Given the description of an element on the screen output the (x, y) to click on. 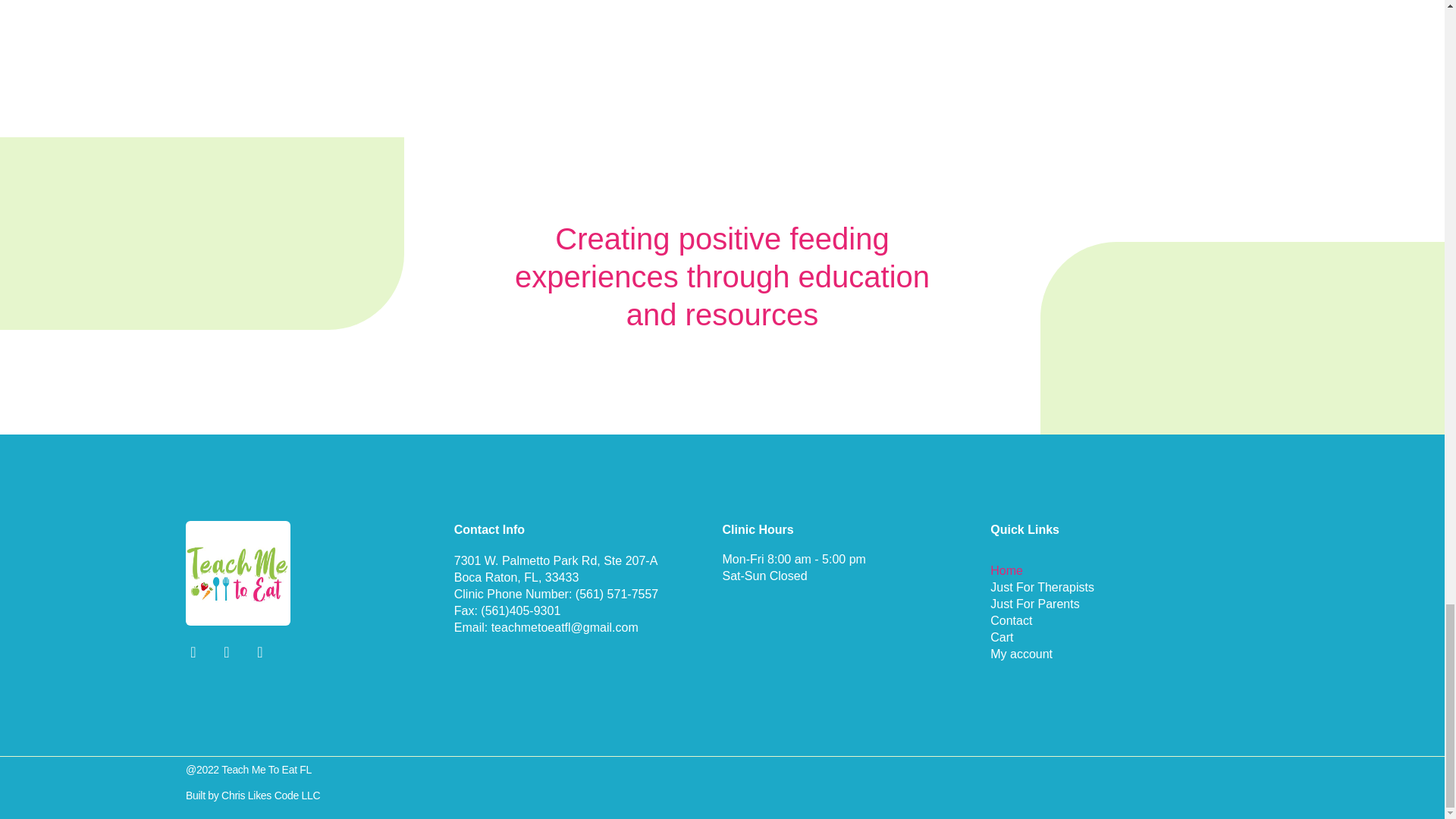
Just For Therapists (1124, 587)
My account (1124, 654)
Home (1124, 570)
Built by Chris Likes Code LLC (253, 795)
Contact (1124, 620)
Just For Parents (1124, 604)
Cart (1124, 637)
